Given the description of an element on the screen output the (x, y) to click on. 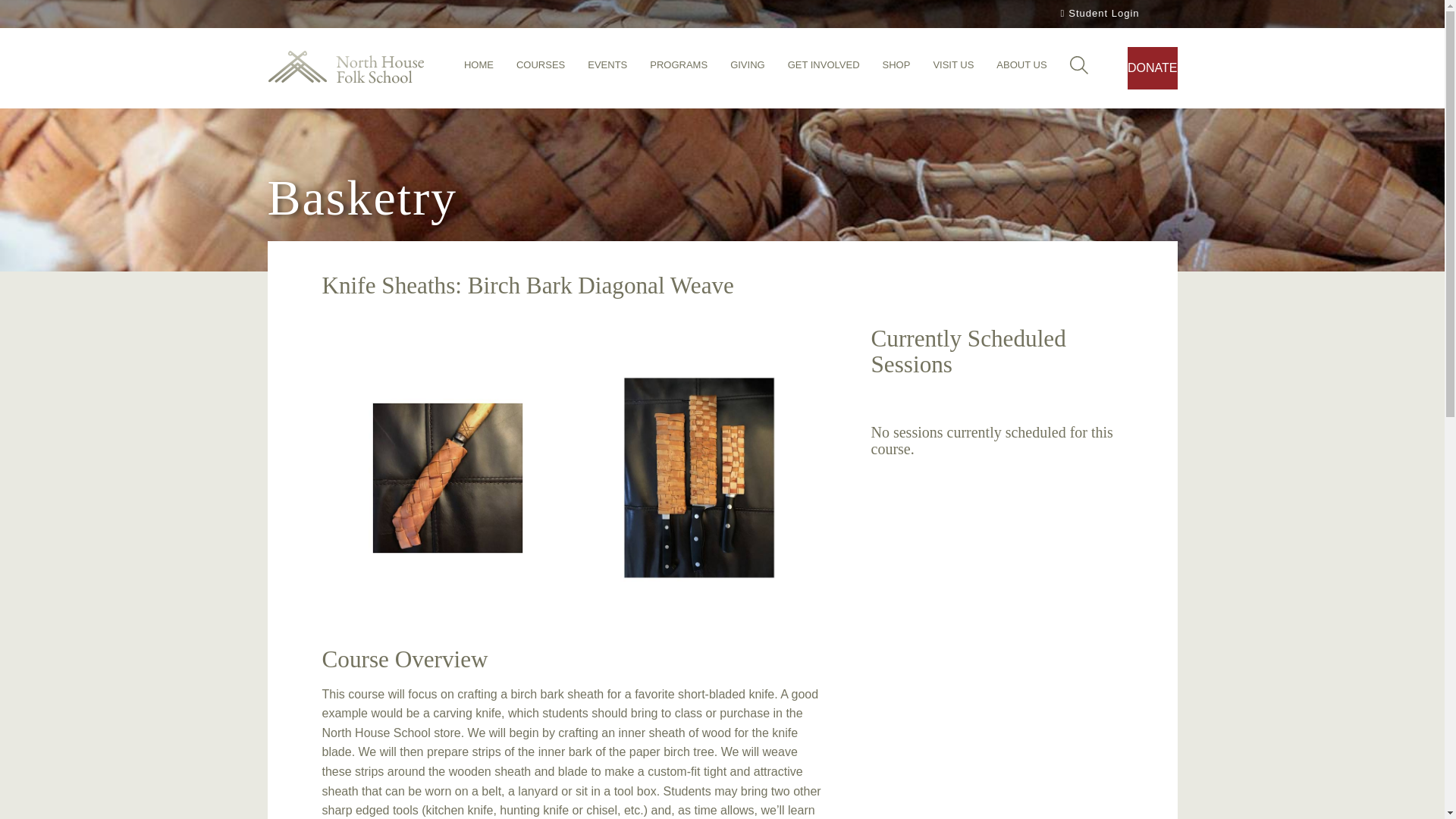
Student Login (1098, 13)
HOME (478, 69)
PROGRAMS (678, 69)
North House Folk School (344, 67)
COURSES (540, 69)
VISIT US (953, 69)
EVENTS (607, 69)
SHOP (896, 69)
GIVING (747, 69)
GET INVOLVED (823, 69)
